Given the description of an element on the screen output the (x, y) to click on. 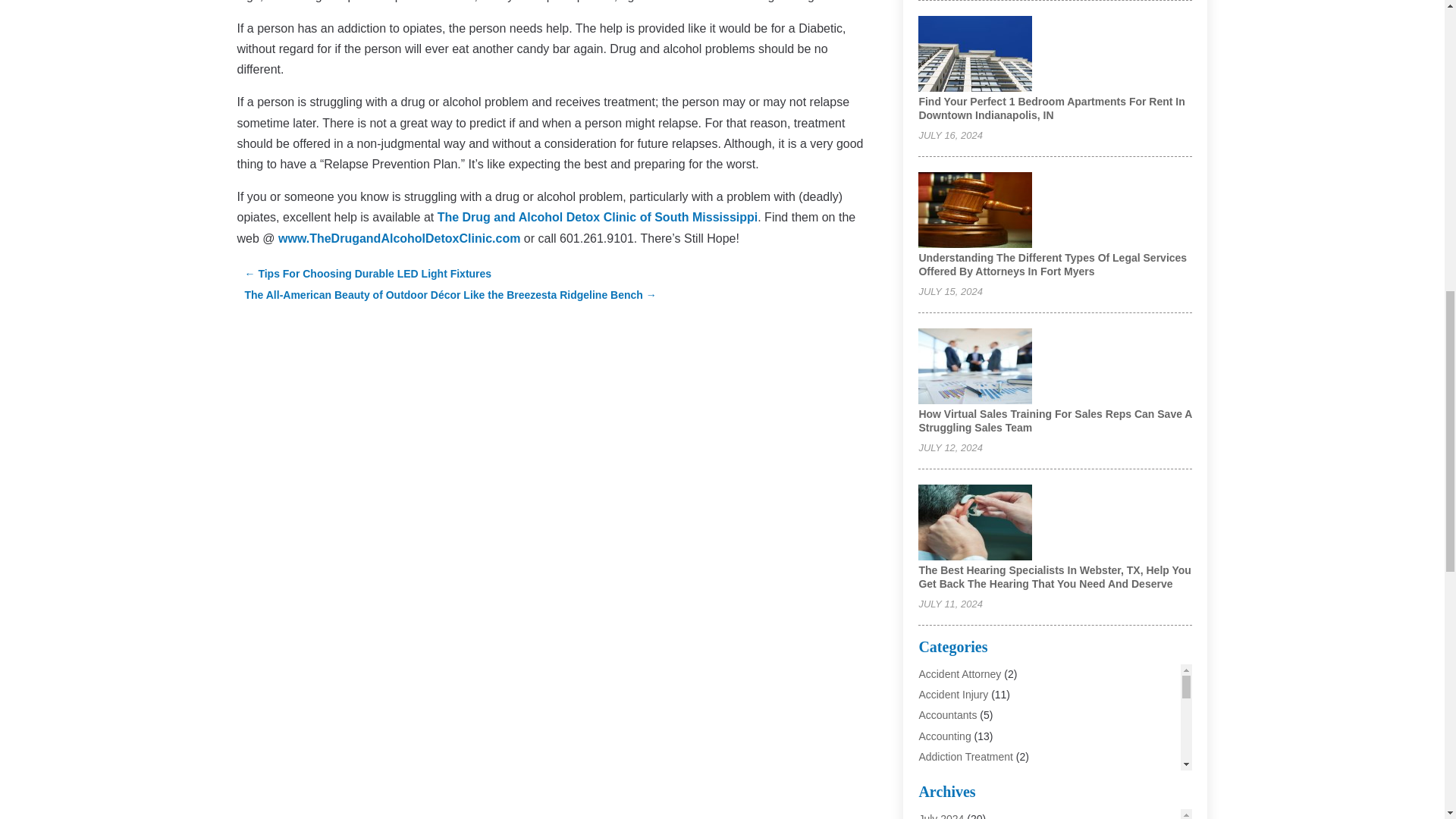
Addiction Treatment Center (982, 776)
Accident Attorney (959, 674)
The Drug and Alcohol Detox Clinic of South Mississippi (598, 216)
Addiction Treatment (965, 756)
Adoption (938, 815)
Accident Injury (953, 694)
Addiction Treatment Support (985, 797)
www.TheDrugandAlcoholDetoxClinic.com (398, 237)
Accountants (947, 715)
Accounting (944, 736)
